Given the description of an element on the screen output the (x, y) to click on. 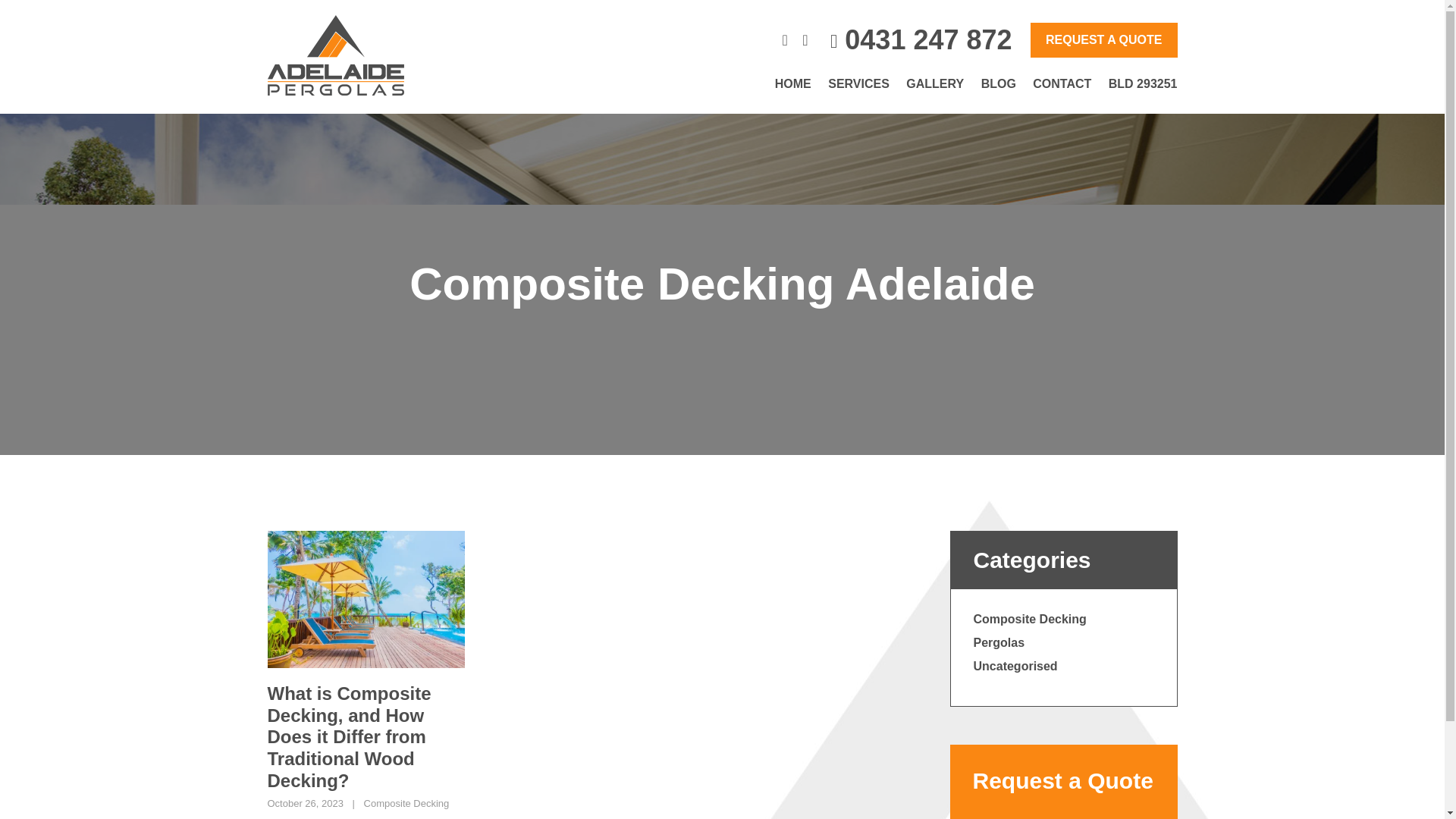
HOME (792, 83)
CONTACT (1061, 83)
BLOG (998, 83)
BLD 293251 (1142, 83)
0431 247 872 (927, 39)
REQUEST A QUOTE (1103, 39)
SERVICES (858, 83)
GALLERY (934, 83)
Uncategorised (1016, 666)
